Given the description of an element on the screen output the (x, y) to click on. 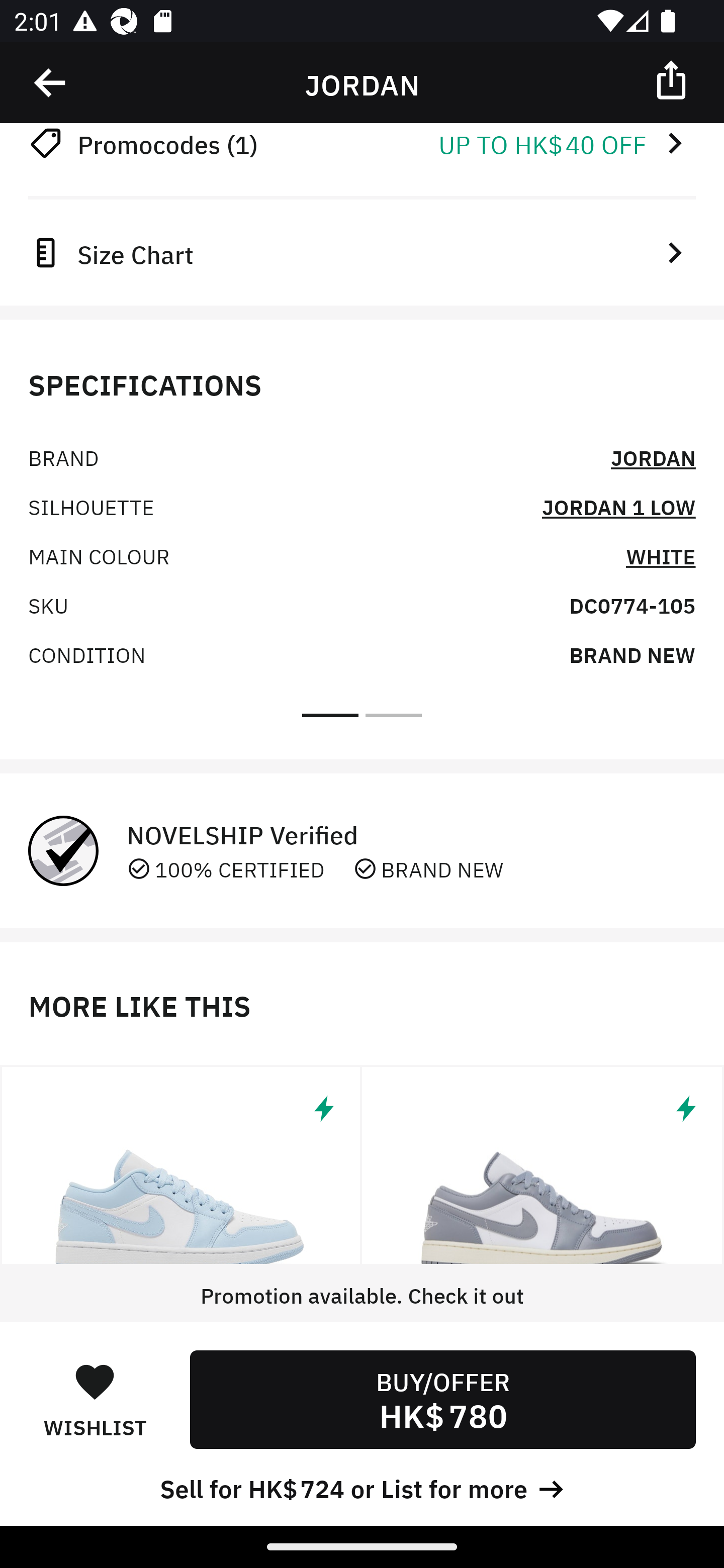
 (50, 83)
 (672, 79)
Promocodes (1) UP TO HK$ 40 OFF  (361, 143)
Size Chart  (361, 252)
JORDAN (653, 457)
JORDAN 1 LOW (618, 506)
WHITE (660, 554)
DC0774-105 (632, 604)
BRAND NEW (632, 653)
 (181, 1164)
 (543, 1164)
BUY/OFFER HK$ 780 (442, 1399)
󰋑 (94, 1380)
Sell for HK$ 724 or List for more (361, 1486)
